Given the description of an element on the screen output the (x, y) to click on. 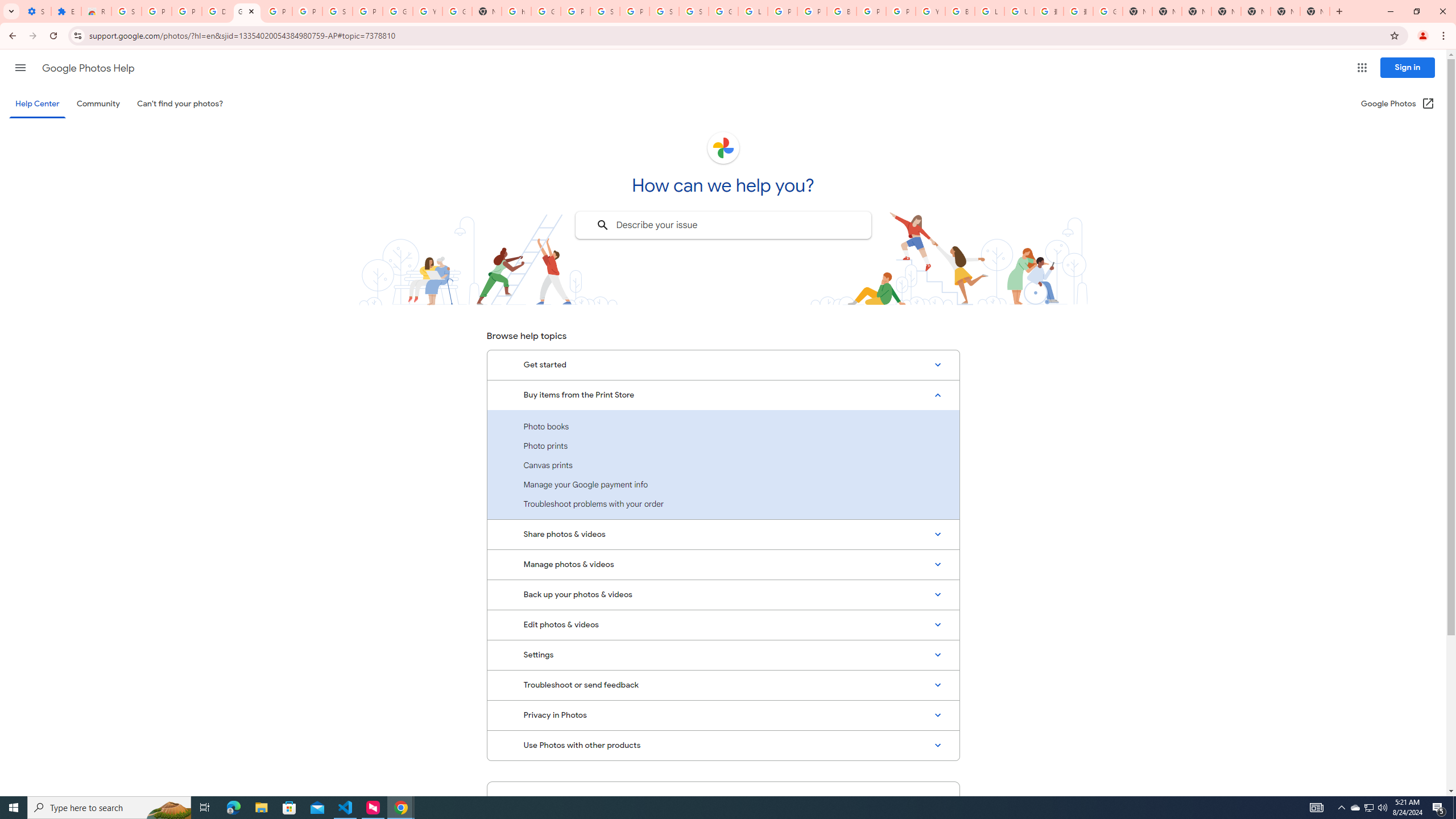
Google Photos (Open in a new window) (1397, 103)
Can't find your photos? (180, 103)
Privacy in Photos (722, 715)
Settings - On startup (36, 11)
Sign in - Google Accounts (664, 11)
Delete photos & videos - Computer - Google Photos Help (216, 11)
